Given the description of an element on the screen output the (x, y) to click on. 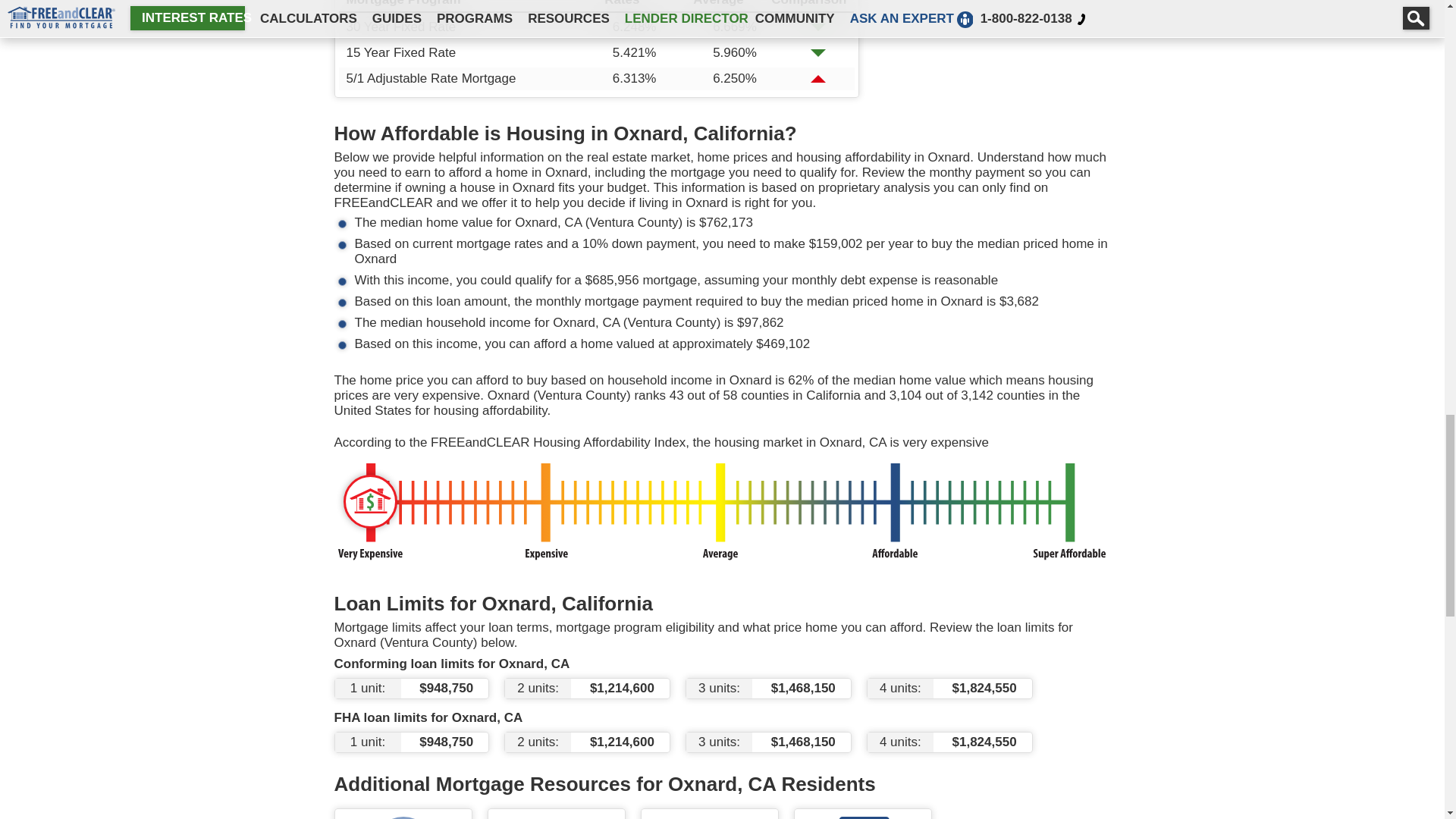
Calculator (709, 817)
Calculator (556, 817)
Get Pre-Approved (402, 817)
directory (861, 817)
